Given the description of an element on the screen output the (x, y) to click on. 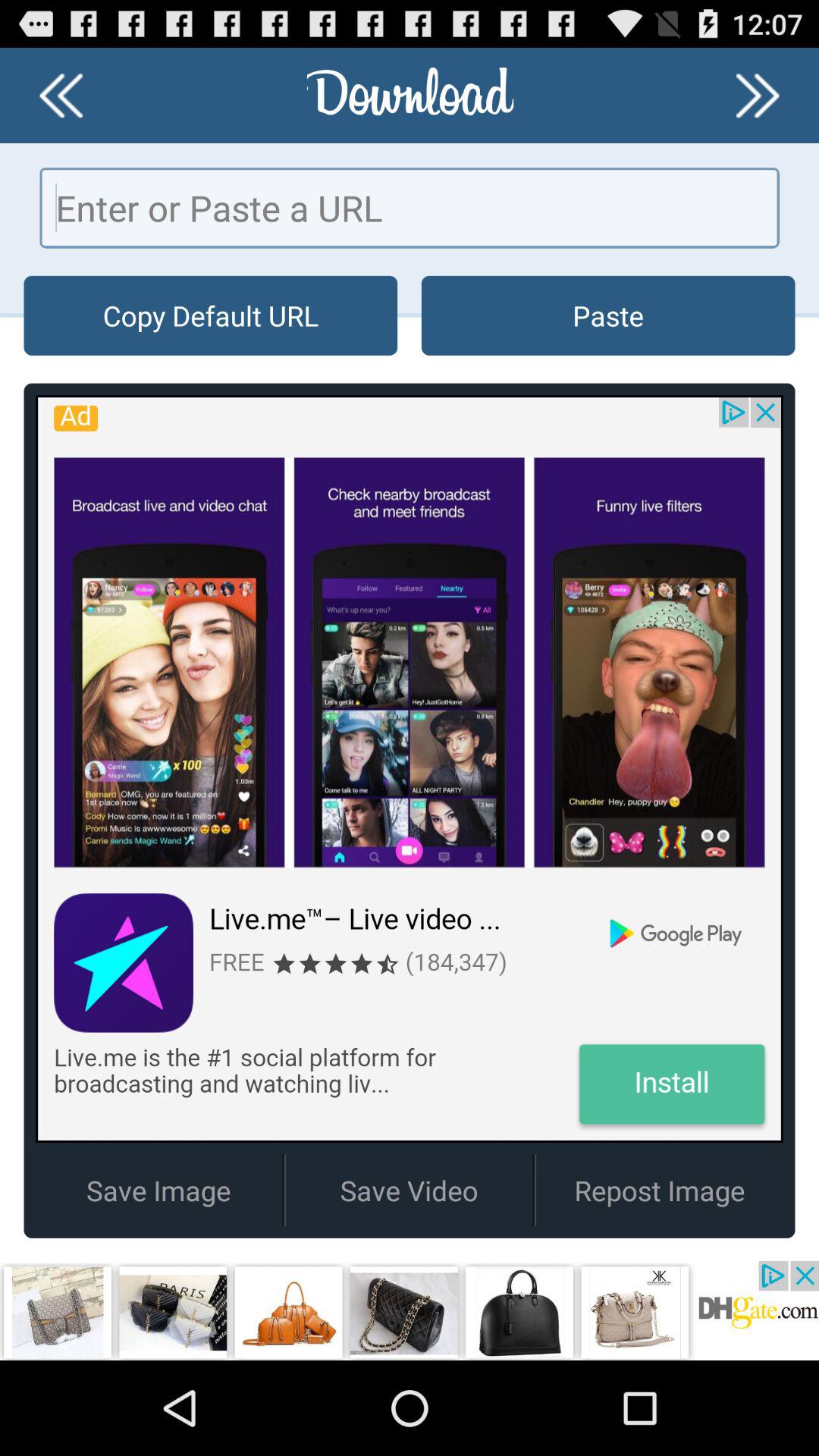
go next (757, 95)
